Given the description of an element on the screen output the (x, y) to click on. 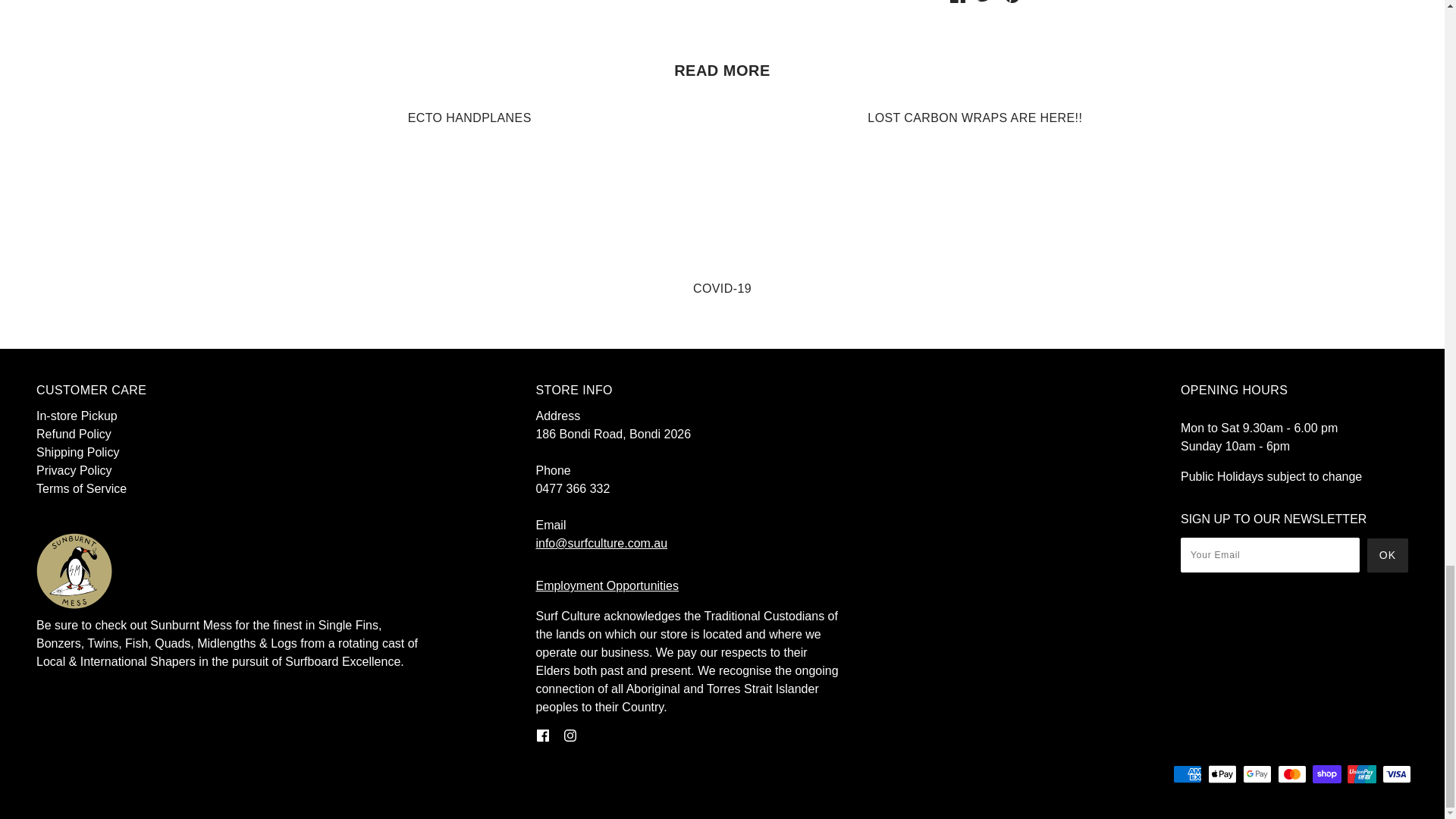
American Express (1187, 773)
Shop Pay (1326, 773)
In-store Pickup (76, 415)
Ok (1387, 555)
Refund Policy (74, 433)
Shipping Policy (77, 451)
Privacy Policy (74, 470)
Mastercard (1292, 773)
Apple Pay (1222, 773)
Employment Opportunities (606, 585)
Google Pay (1257, 773)
Terms of Service (81, 488)
